Given the description of an element on the screen output the (x, y) to click on. 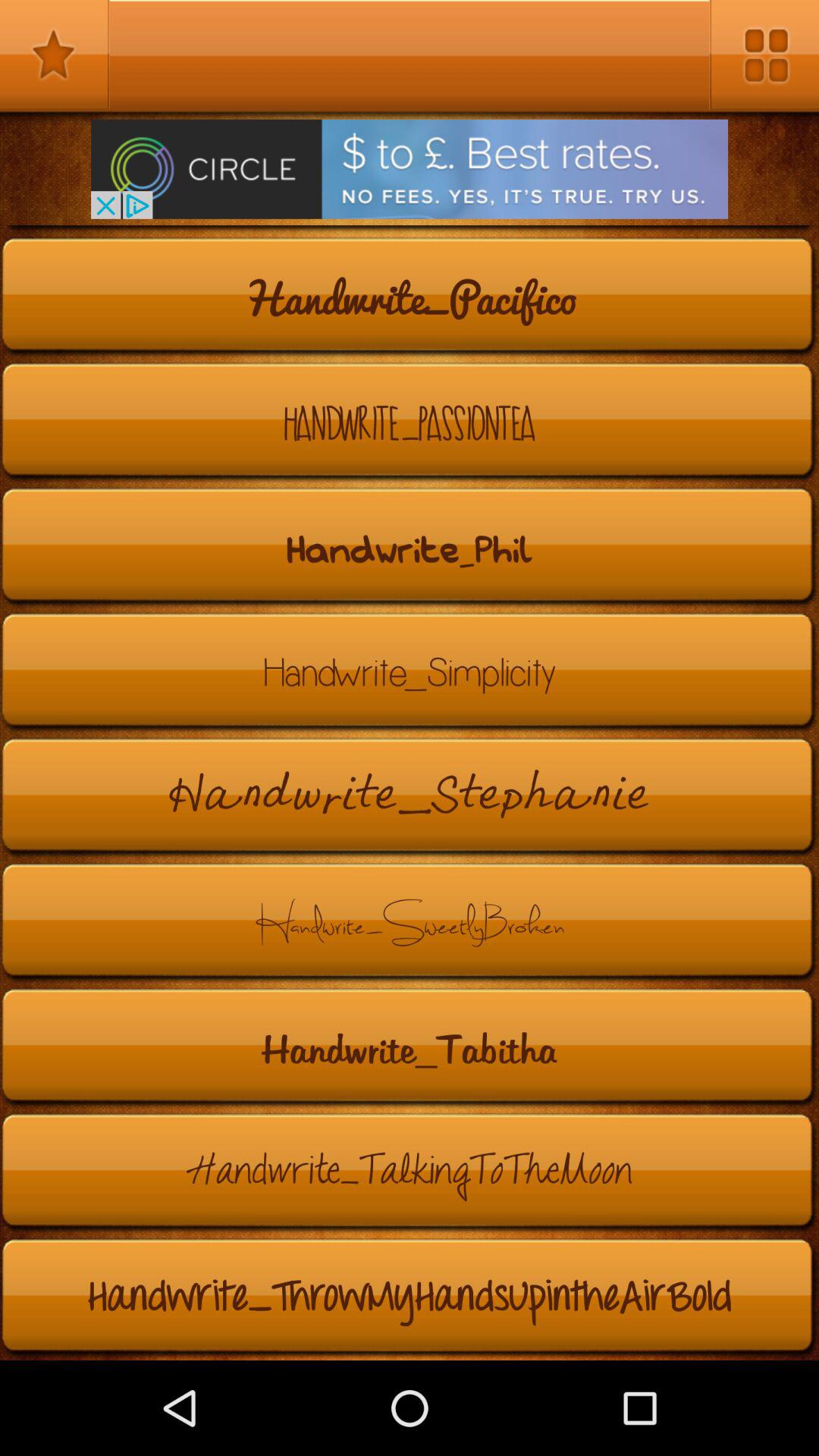
view advertisement (409, 168)
